Given the description of an element on the screen output the (x, y) to click on. 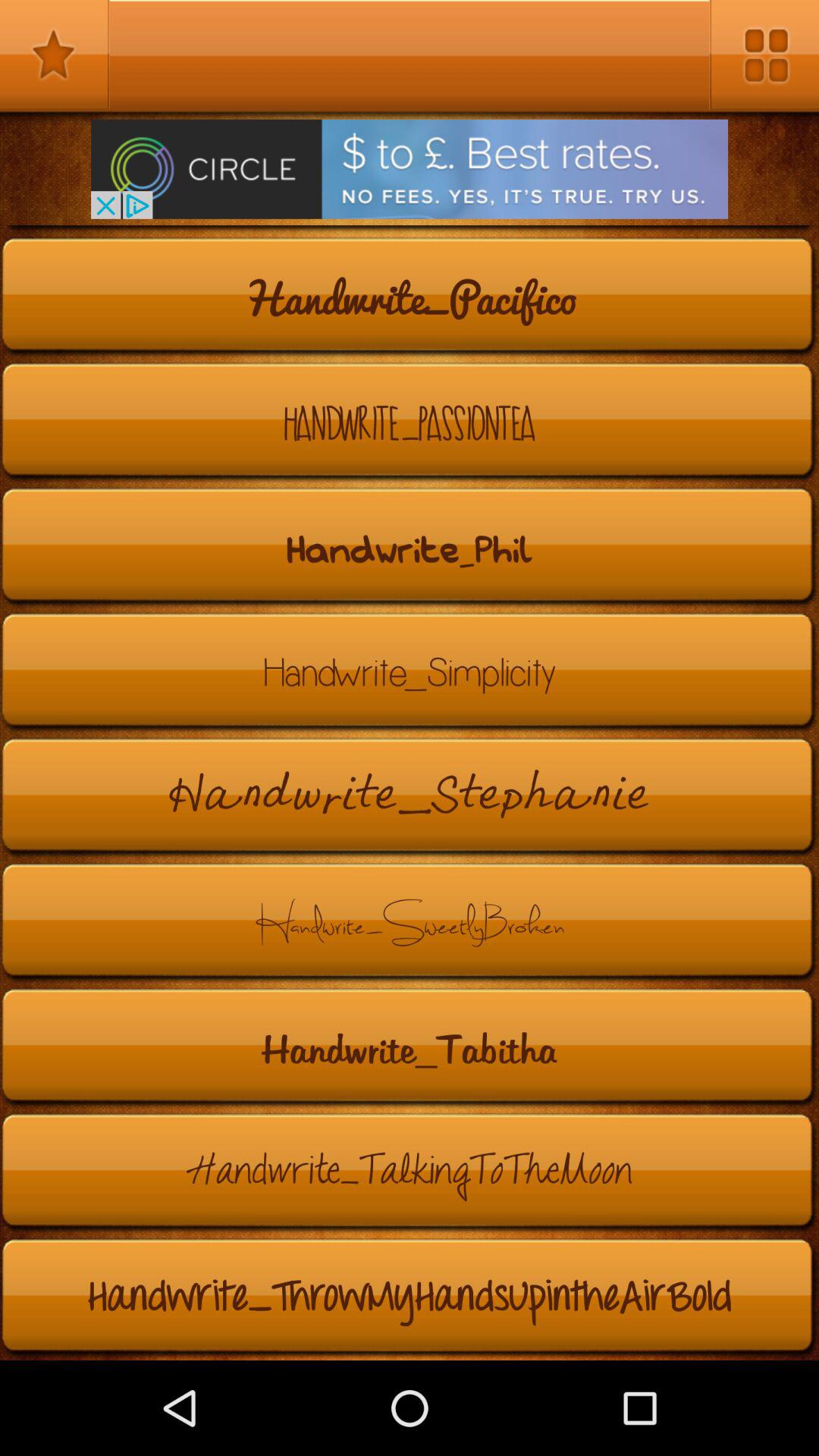
view advertisement (409, 168)
